Given the description of an element on the screen output the (x, y) to click on. 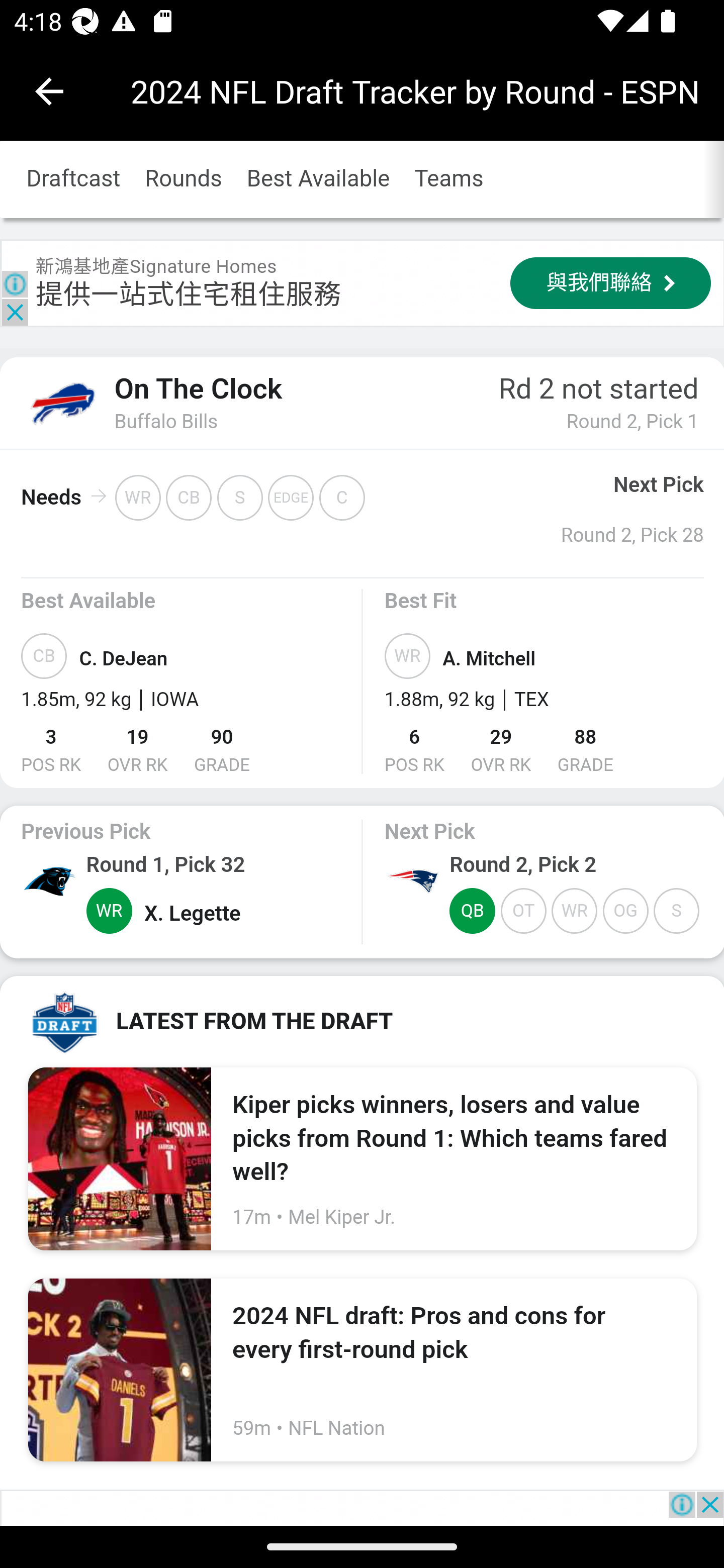
Navigate up (49, 91)
Draftcast (73, 180)
Rounds (183, 180)
Best Available (317, 180)
Teams (448, 180)
新鴻基地產Signature Homes (156, 265)
與我們聯絡 (610, 282)
提供一站式住宅租住服務 (189, 293)
buf (61, 402)
Round 2, Pick 28 (632, 535)
C. DeJean (122, 659)
A. Mitchell (488, 659)
car (49, 881)
ne (412, 881)
X. Legette (192, 913)
